Given the description of an element on the screen output the (x, y) to click on. 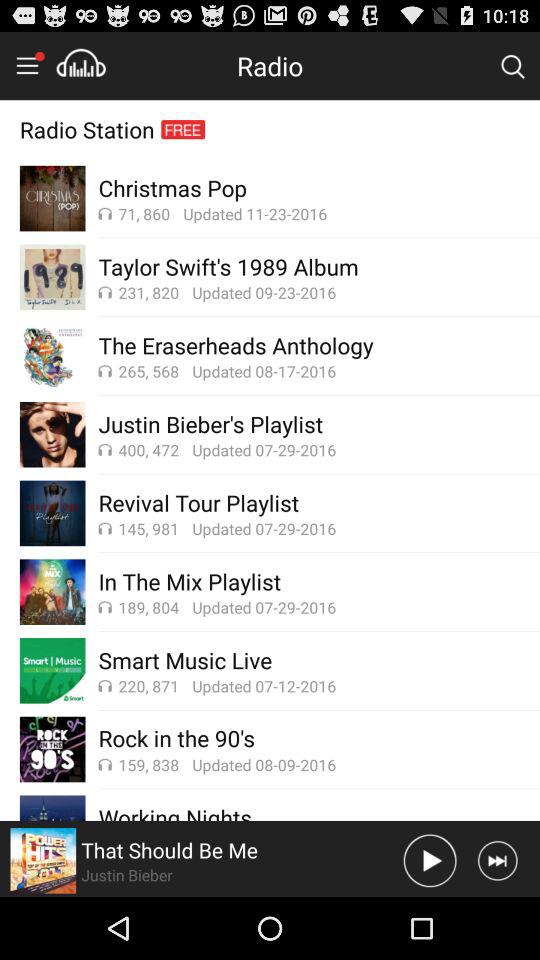
play (429, 860)
